Given the description of an element on the screen output the (x, y) to click on. 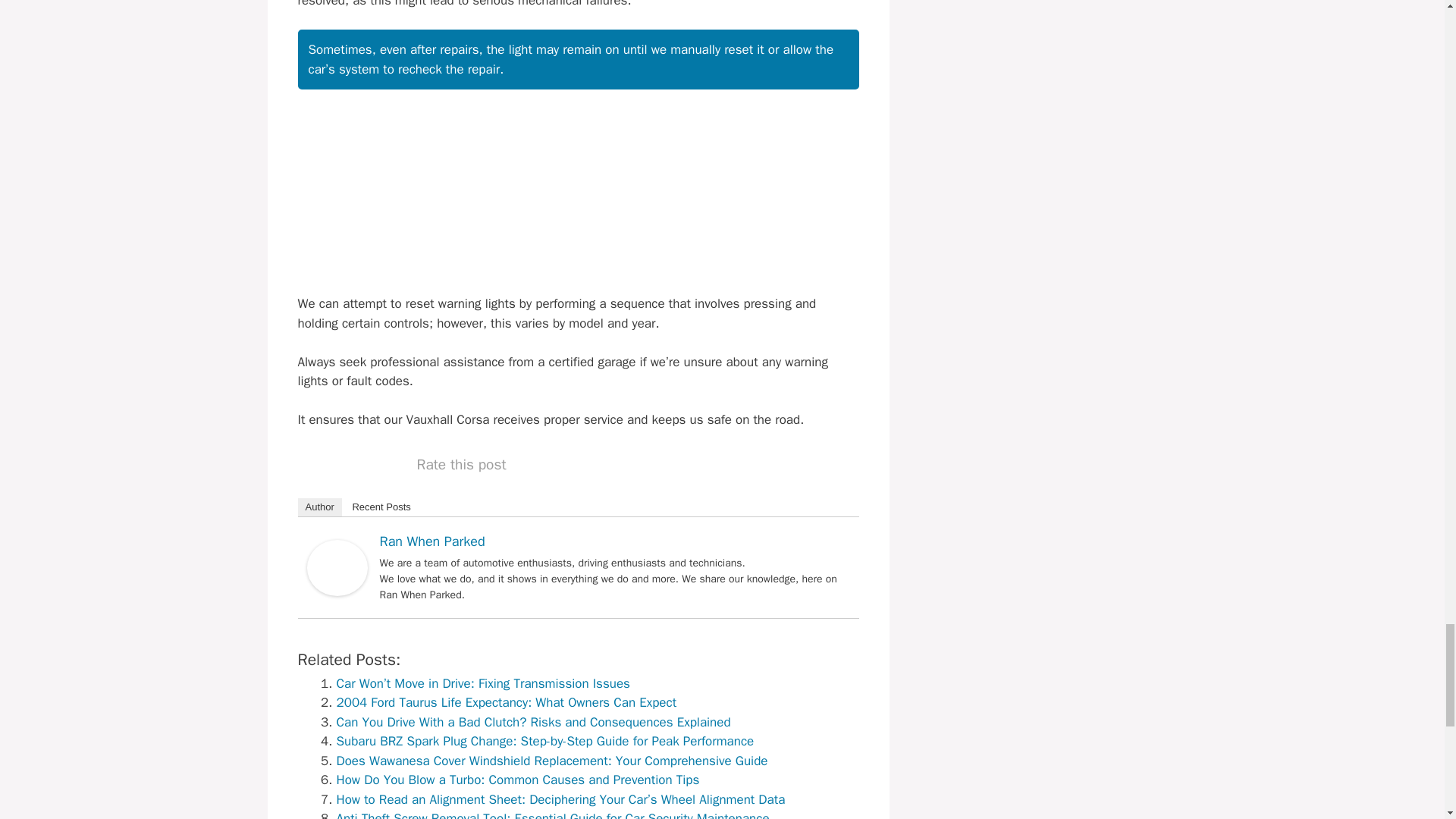
Ran When Parked (335, 591)
2004 Ford Taurus Life Expectancy: What Owners Can Expect (506, 702)
How Do You Blow a Turbo: Common Causes and Prevention Tips (518, 779)
